Given the description of an element on the screen output the (x, y) to click on. 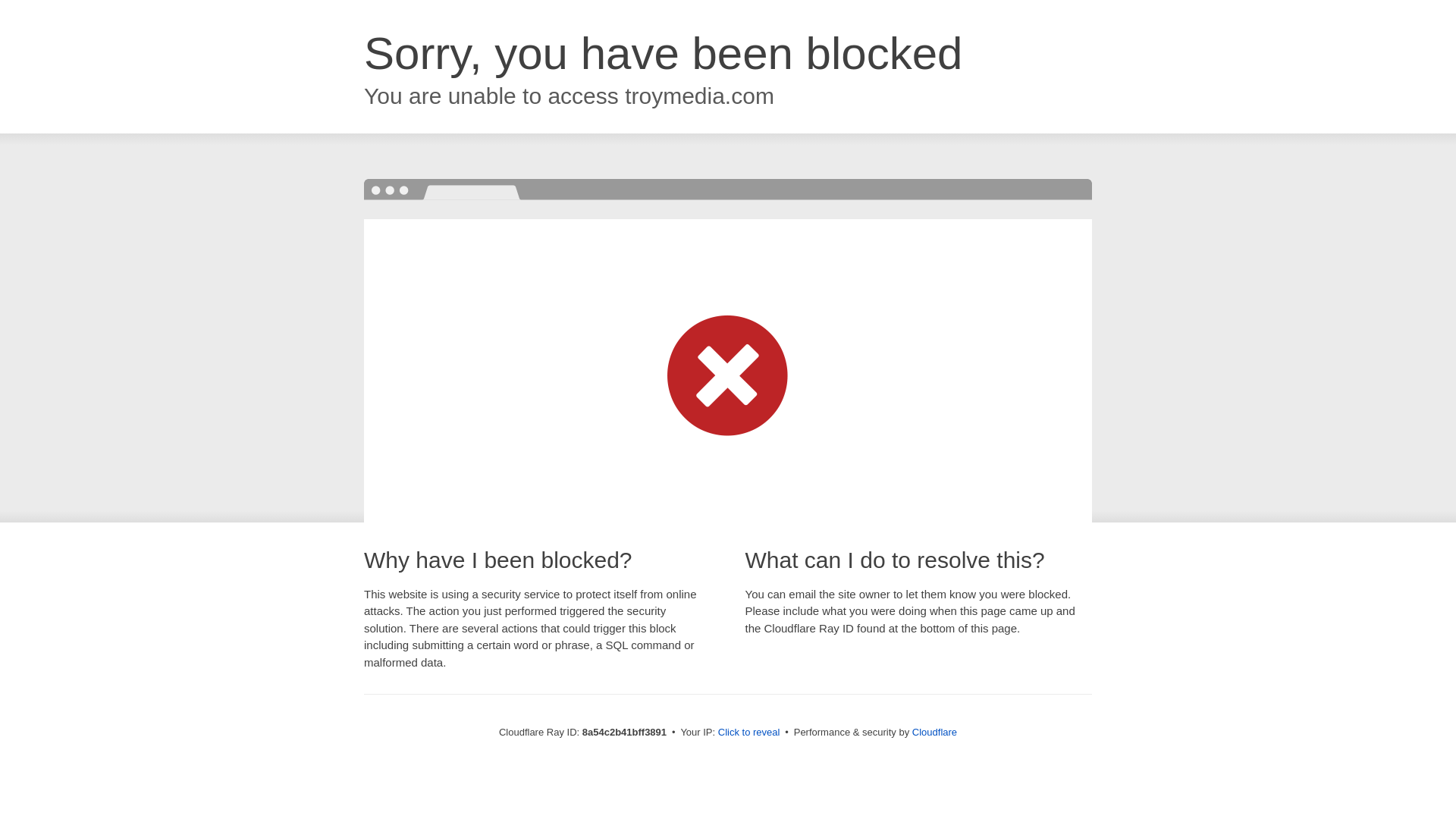
Cloudflare (934, 731)
Click to reveal (748, 732)
